Given the description of an element on the screen output the (x, y) to click on. 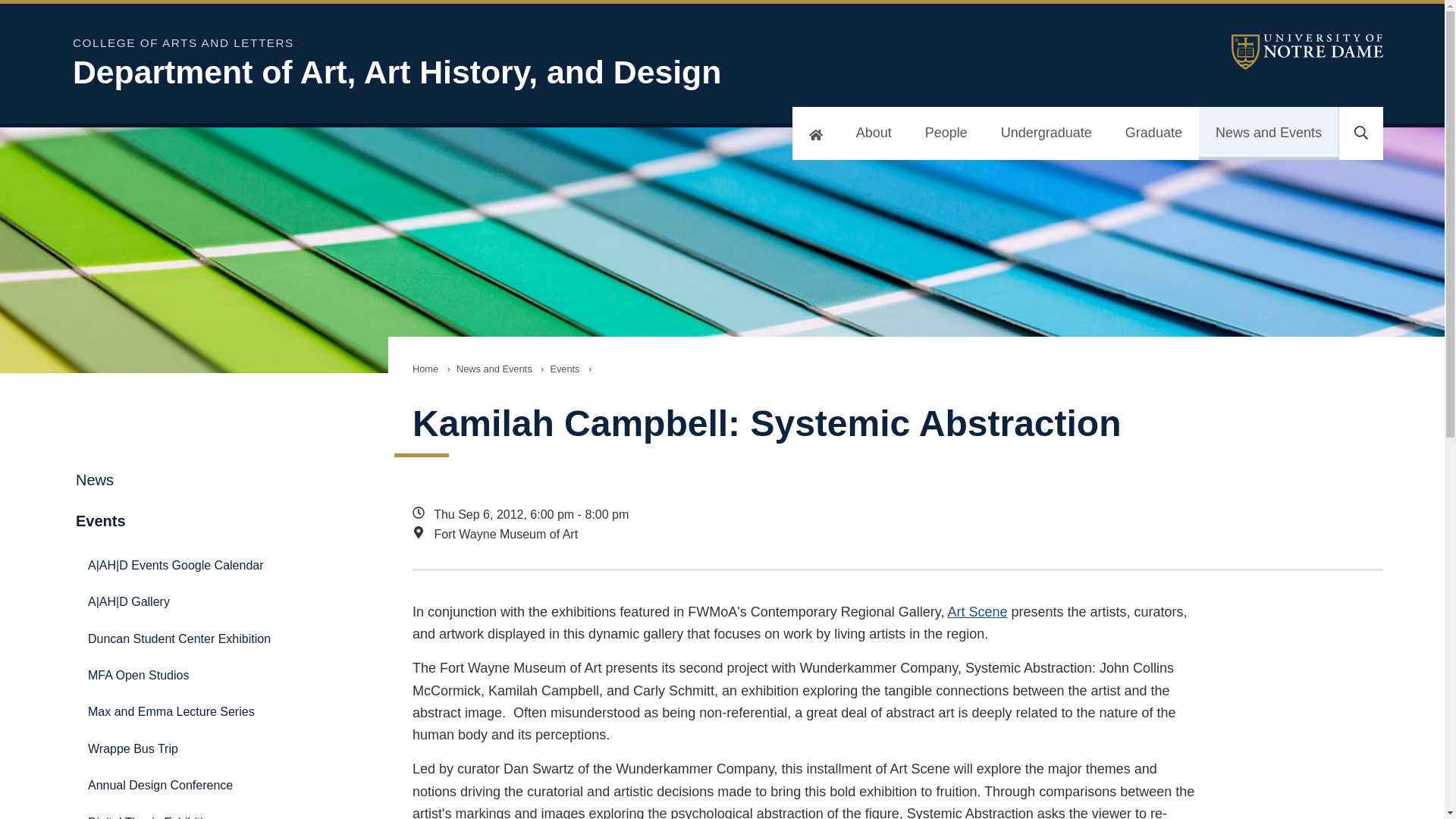
Undergraduate (1046, 133)
Department of Art, Art History, and Design (466, 72)
Thu Sep  6, 2012  6:00 pm -  8:00 pm (806, 514)
Events (564, 368)
Art Scene (977, 611)
News and Events (1268, 133)
News and Events (493, 368)
University of Notre Dame (1307, 51)
About (874, 133)
Graduate (1153, 133)
People (946, 133)
Home (425, 368)
